Given the description of an element on the screen output the (x, y) to click on. 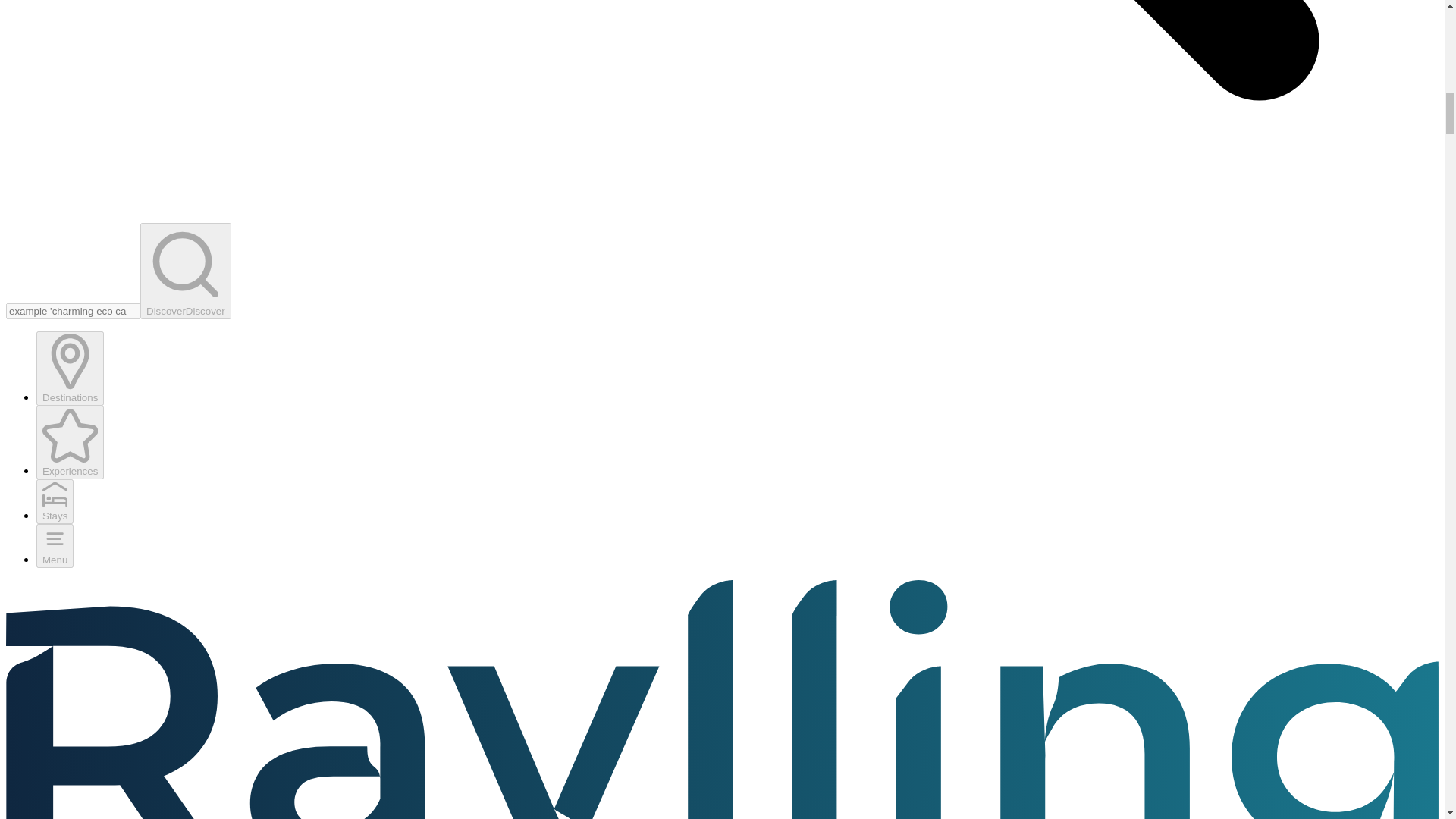
Destinations (69, 367)
DiscoverDiscover (185, 271)
Experiences (69, 442)
